Given the description of an element on the screen output the (x, y) to click on. 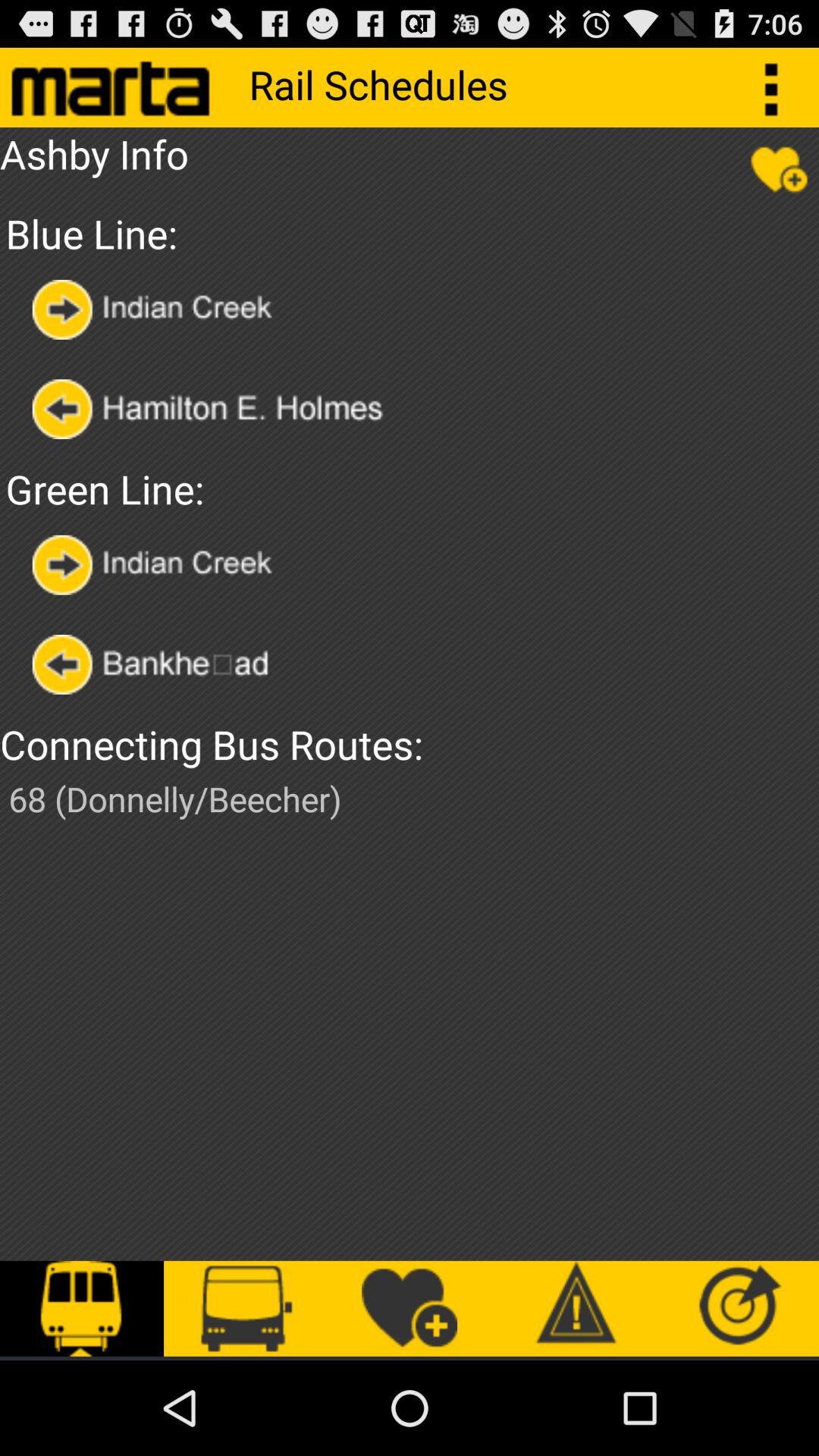
because back devicer (229, 408)
